Given the description of an element on the screen output the (x, y) to click on. 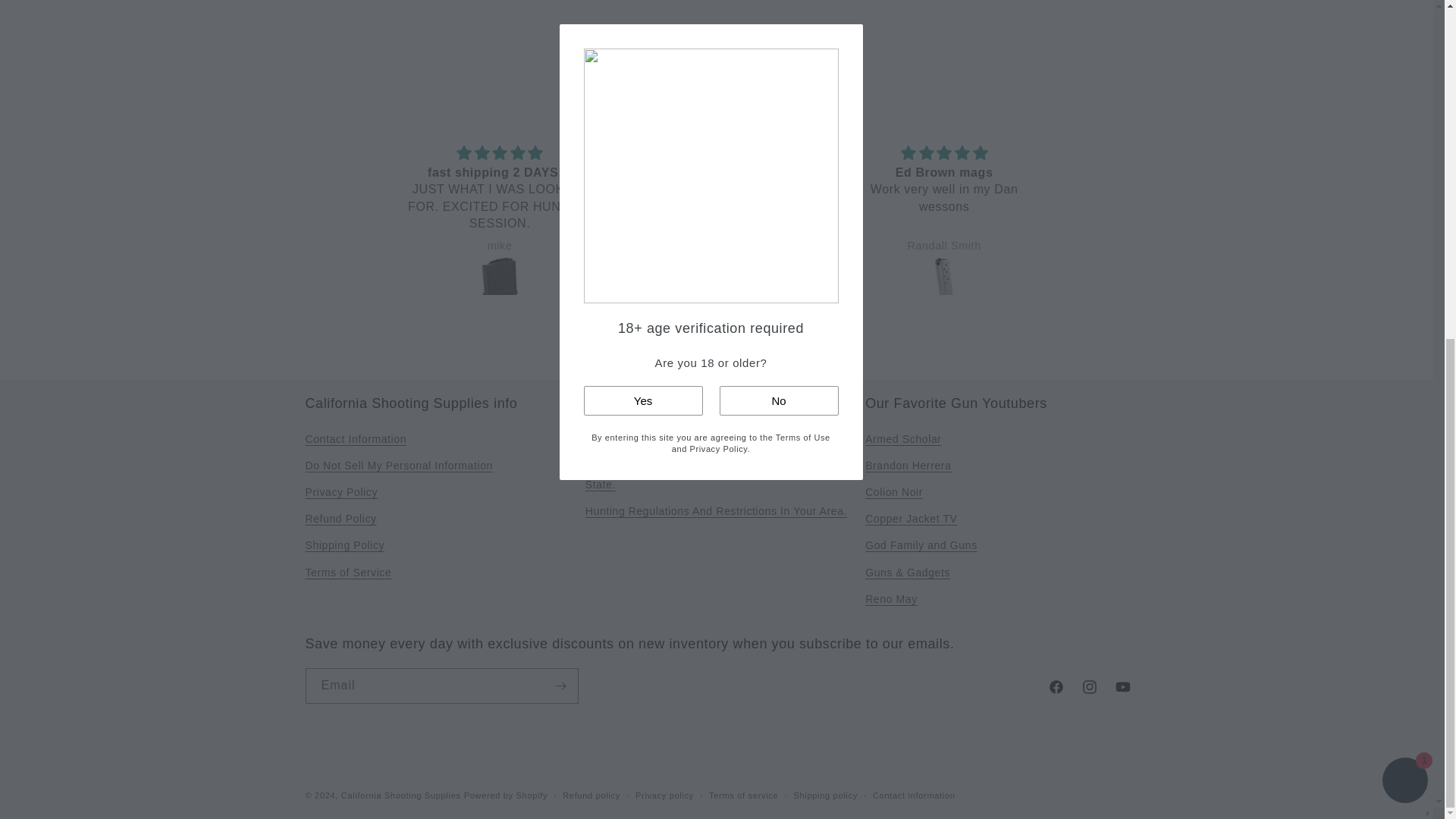
Shopify online store chat (1404, 209)
